Given the description of an element on the screen output the (x, y) to click on. 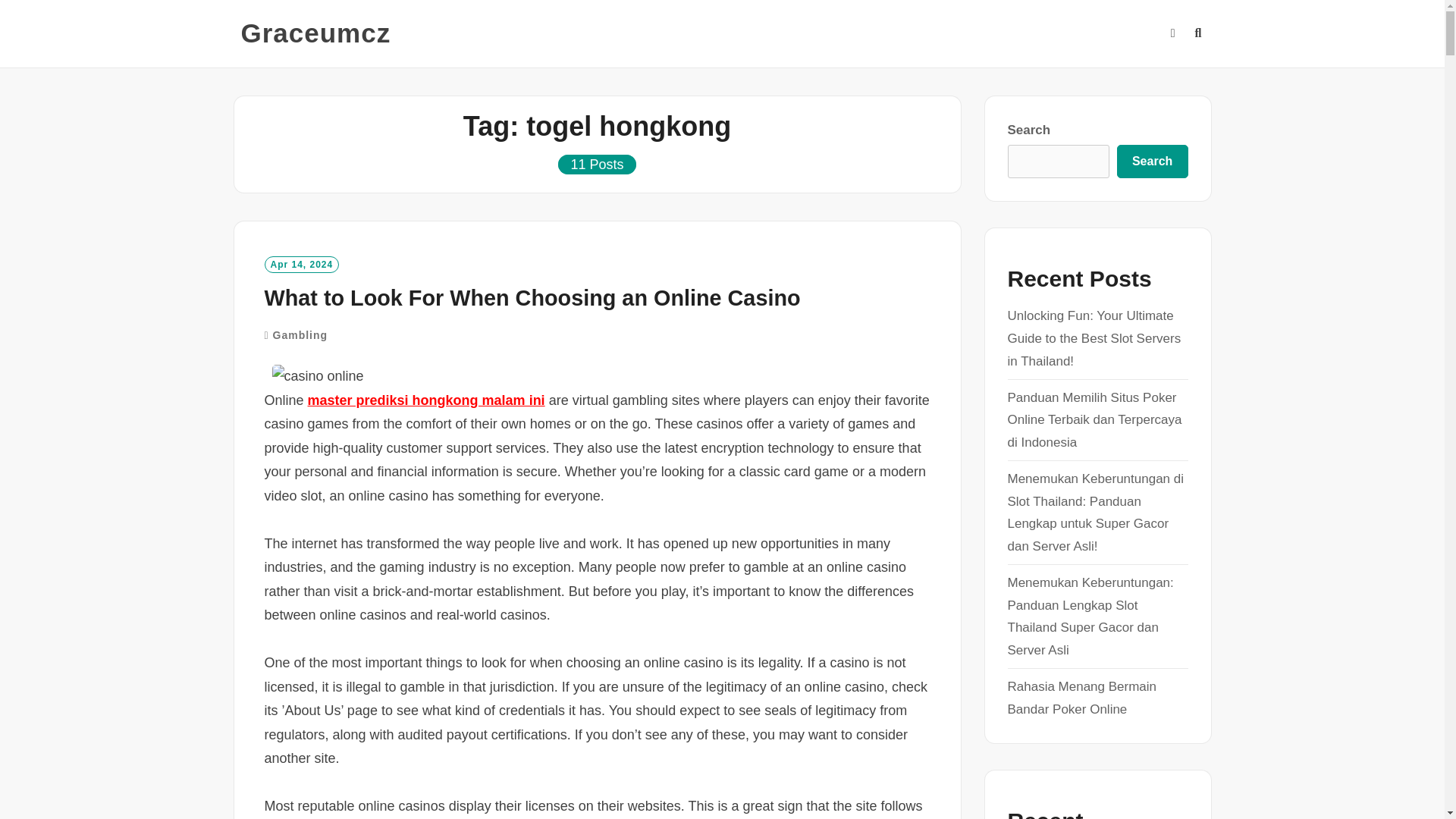
Apr 14, 2024 (301, 264)
Gambling (301, 335)
What to Look For When Choosing an Online Casino (531, 297)
Graceumcz (316, 33)
master prediksi hongkong malam ini (425, 400)
